Given the description of an element on the screen output the (x, y) to click on. 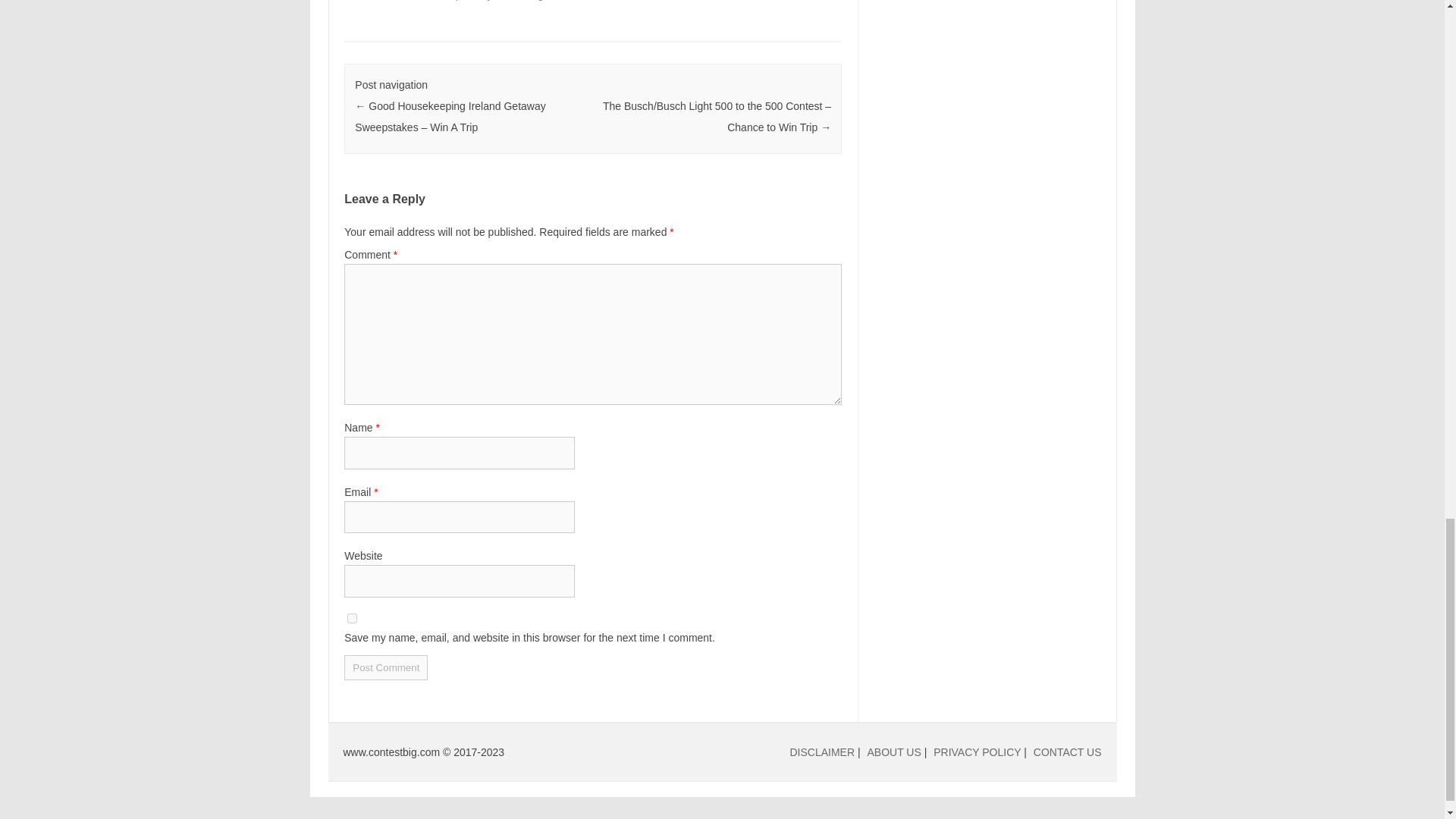
CONTACT US (1067, 752)
PRIVACY POLICY (976, 752)
ABOUT US (894, 752)
Post Comment (385, 667)
DISCLAIMER (821, 752)
Post Comment (385, 667)
yes (351, 618)
